Given the description of an element on the screen output the (x, y) to click on. 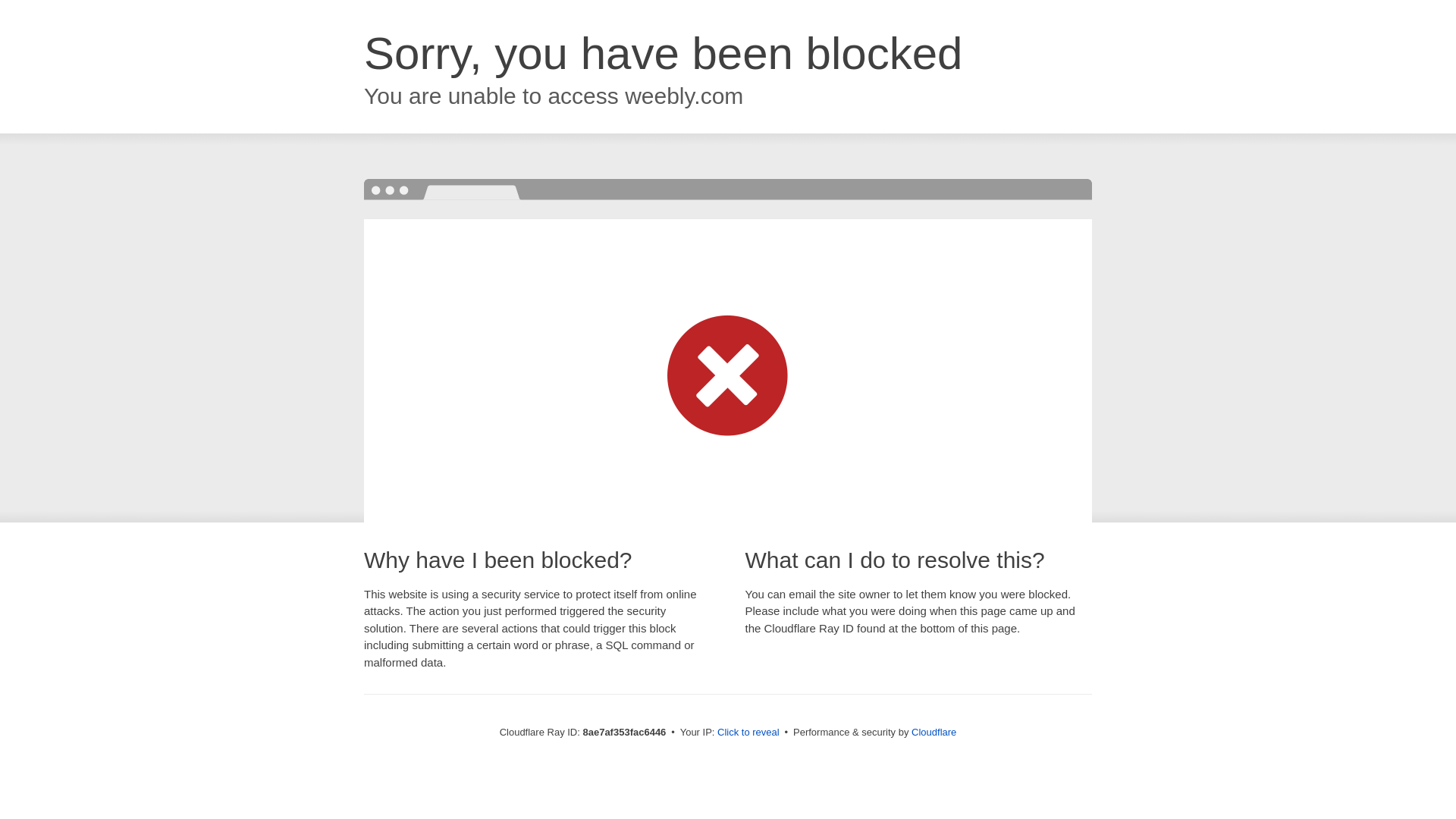
Cloudflare (933, 731)
Click to reveal (747, 732)
